Given the description of an element on the screen output the (x, y) to click on. 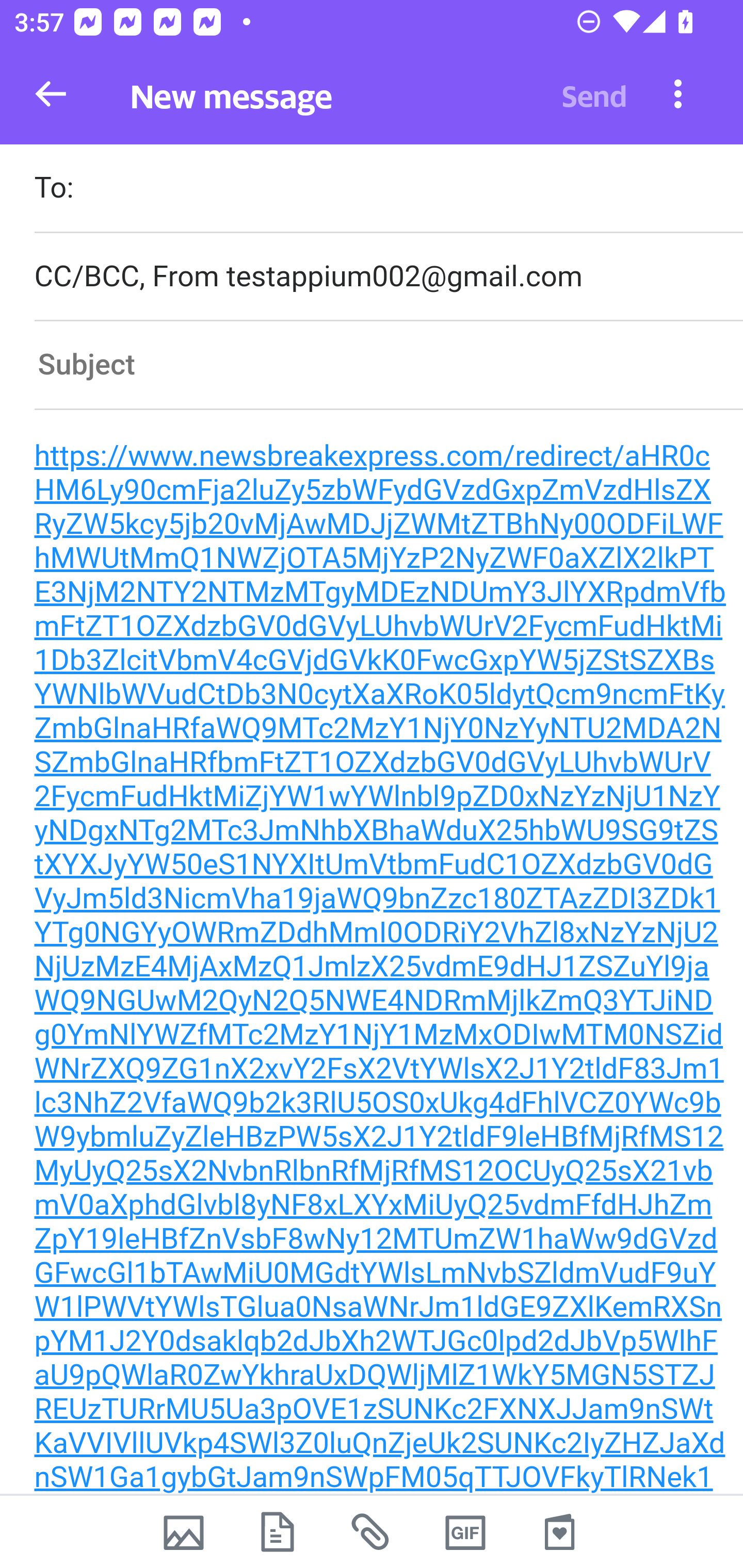
Back (50, 93)
Send (594, 93)
More options (677, 93)
To: (387, 189)
CC/BCC, From testappium002@gmail.com (387, 276)
Camera photos (183, 1531)
Device files (277, 1531)
Recent attachments from mail (371, 1531)
GIFs (465, 1531)
Stationery (559, 1531)
